Given the description of an element on the screen output the (x, y) to click on. 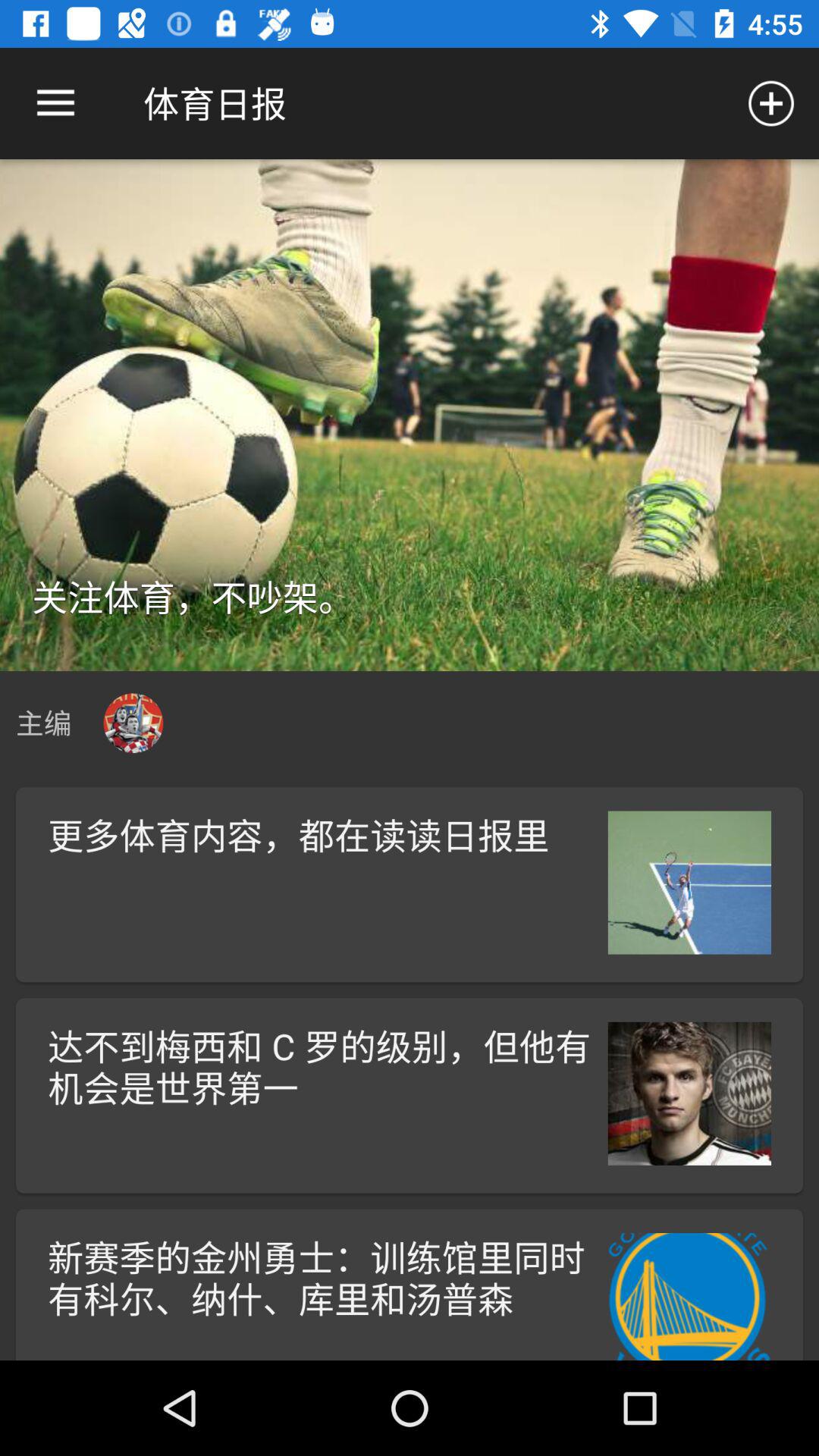
take the second image of the page (689, 882)
